Given the description of an element on the screen output the (x, y) to click on. 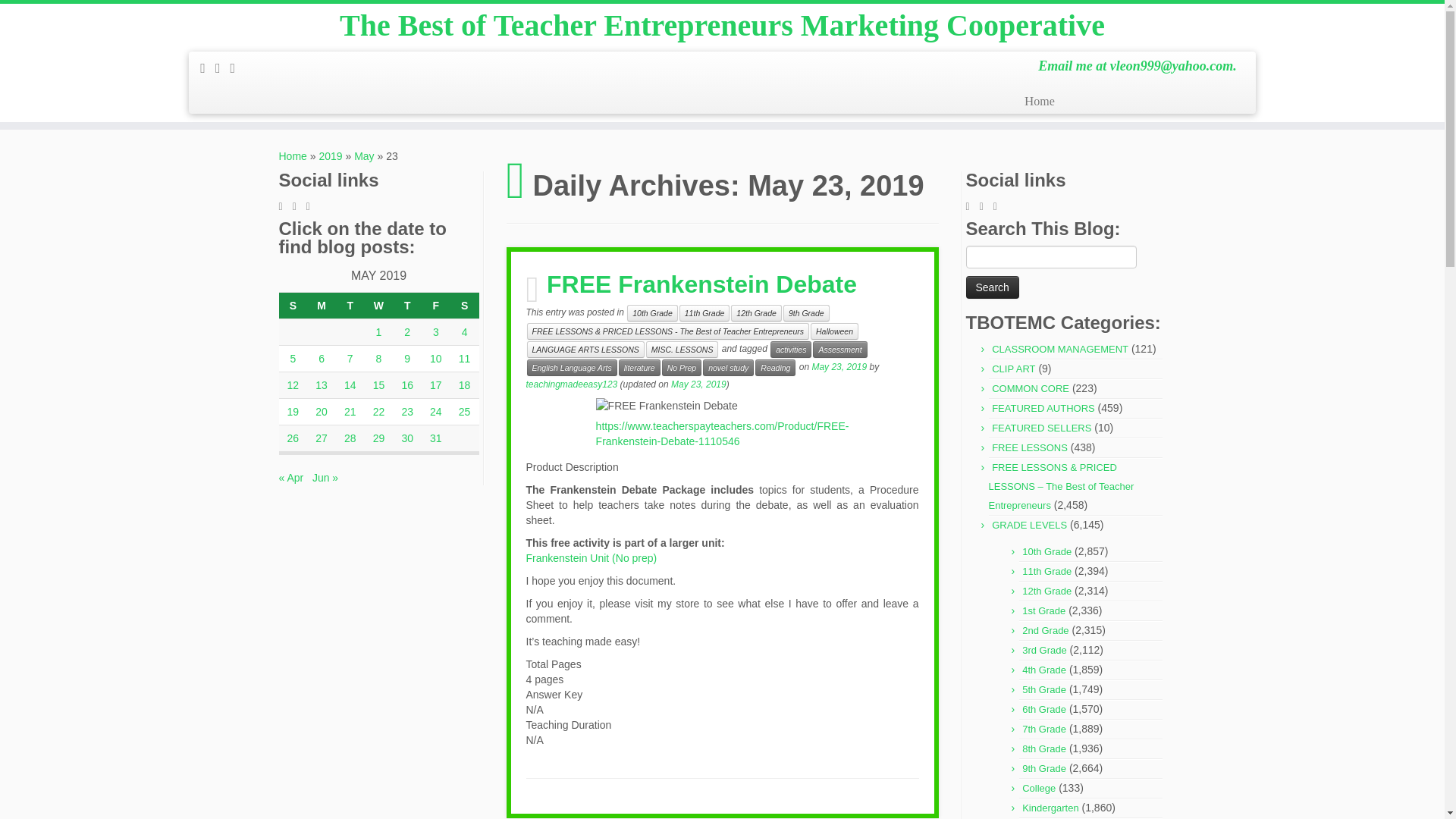
Follow me on Twitter (285, 205)
11 (464, 358)
2019 (330, 155)
2019 (330, 155)
14 (349, 385)
Home (293, 155)
12 (292, 385)
Monday (321, 305)
22 (378, 411)
The Best of Teacher Entrepreneurs Marketing Cooperative (293, 155)
Home (1045, 101)
May (363, 155)
Saturday (464, 305)
20 (321, 411)
Friday (435, 305)
